Given the description of an element on the screen output the (x, y) to click on. 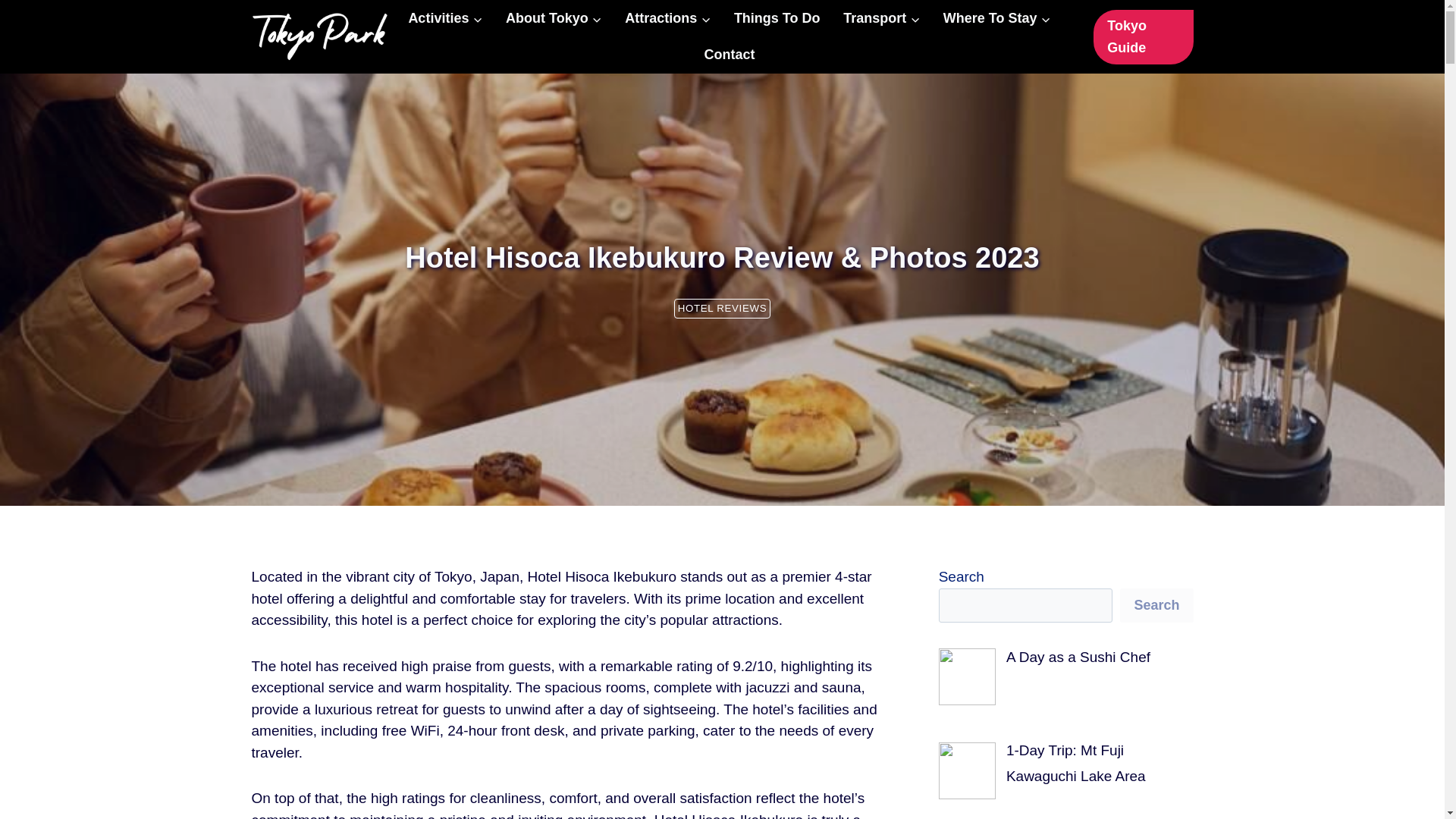
Things To Do (776, 18)
About Tokyo (553, 18)
Activities (445, 18)
Attractions (667, 18)
Transport (881, 18)
Where To Stay (996, 18)
